Given the description of an element on the screen output the (x, y) to click on. 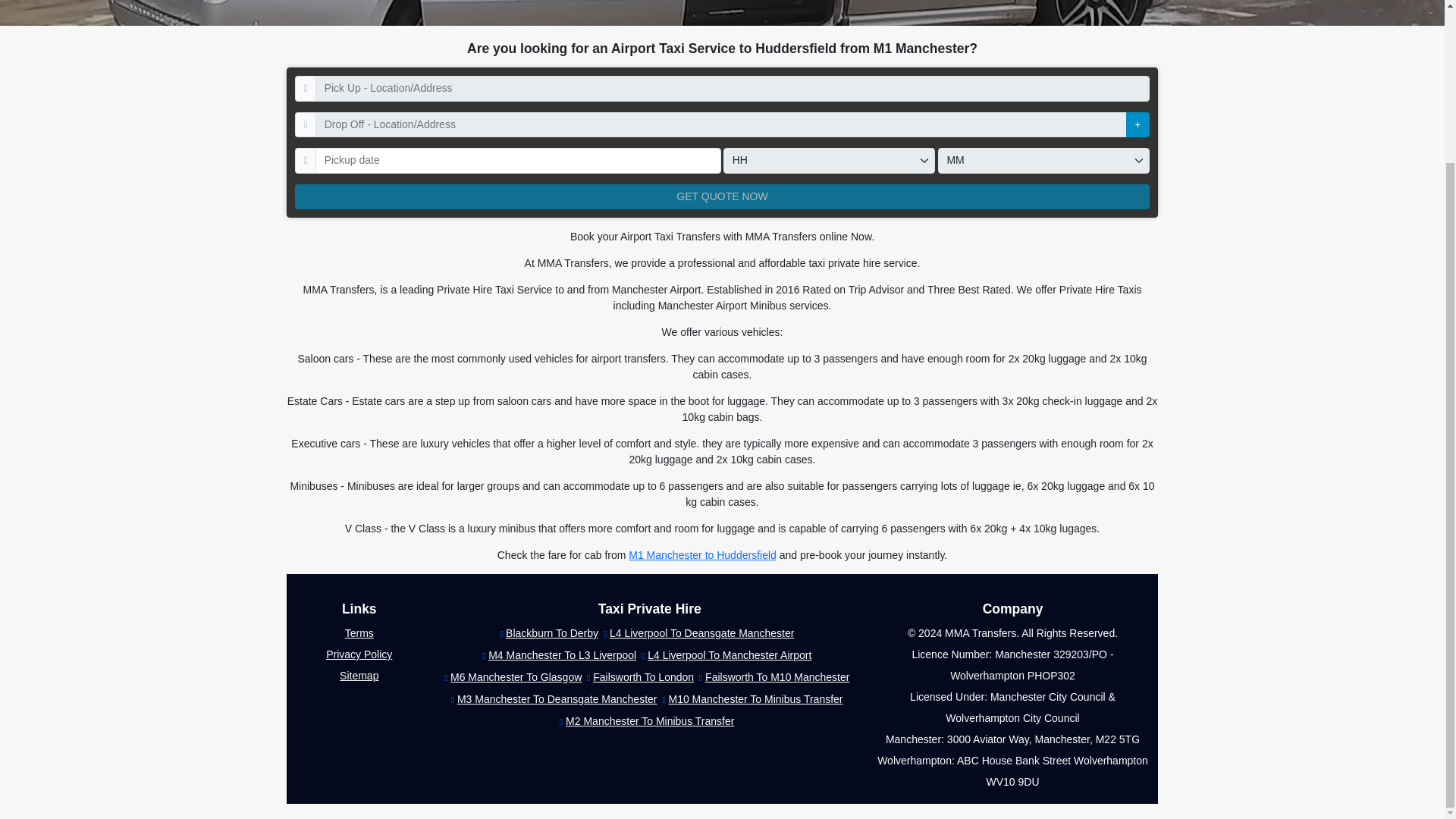
M1 Manchester to Huddersfield (702, 554)
GET QUOTE NOW (722, 196)
M4 Manchester To L3 Liverpool (558, 655)
Sitemap (358, 675)
Blackburn To Derby (548, 633)
L4 Liverpool To Deansgate Manchester (698, 633)
Privacy Policy (358, 654)
Terms (359, 633)
L4 Liverpool To Manchester Airport (726, 655)
Sitemap (358, 675)
